Given the description of an element on the screen output the (x, y) to click on. 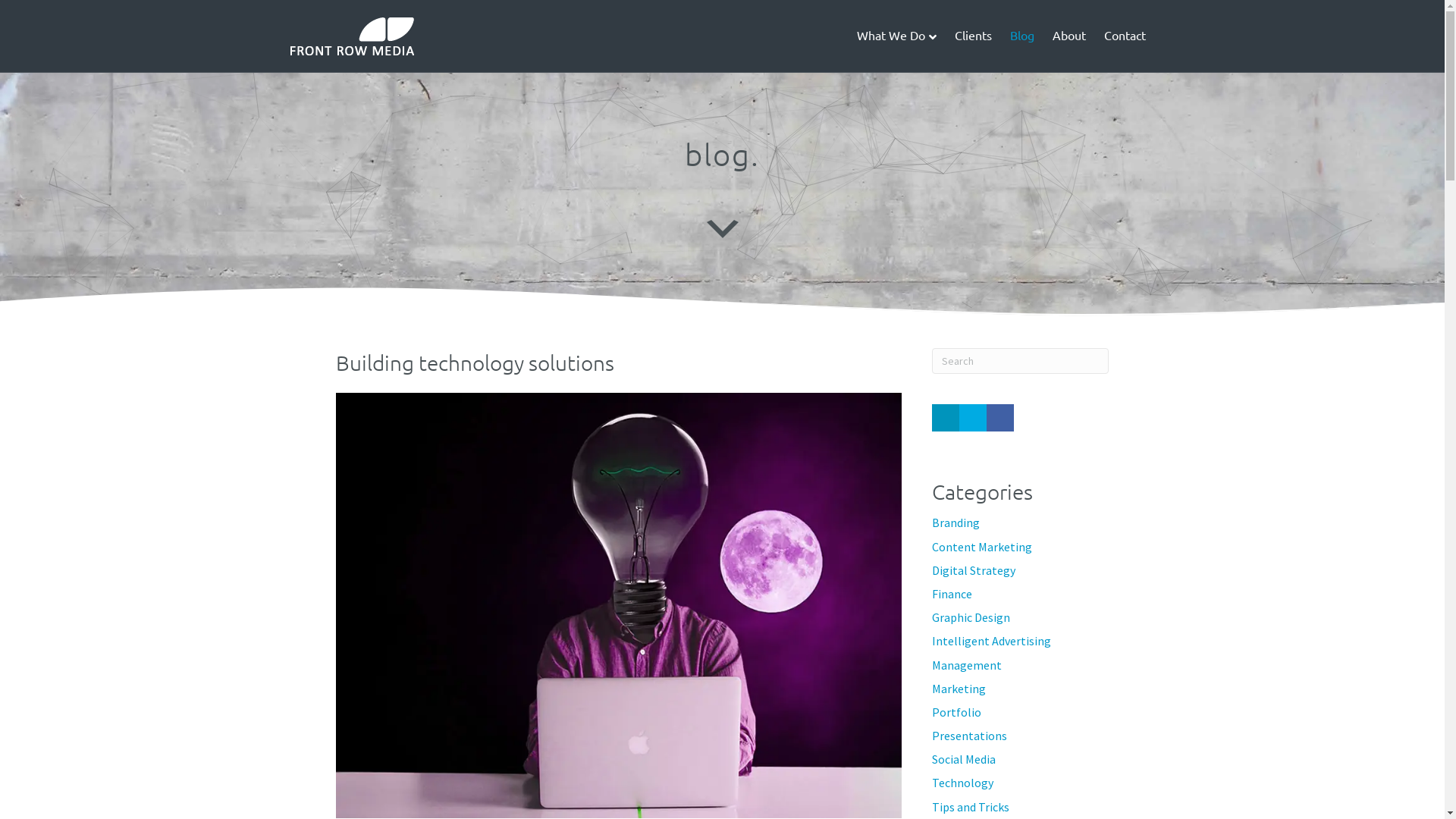
Graphic Design Element type: text (970, 616)
What We Do Element type: text (896, 35)
Marketing Element type: text (958, 688)
Social Media Element type: text (963, 758)
Building technology solutions Element type: hover (618, 603)
blog. Element type: text (721, 154)
Portfolio Element type: text (956, 711)
Content Marketing Element type: text (981, 546)
Intelligent Advertising Element type: text (991, 640)
Finance Element type: text (951, 593)
Management Element type: text (966, 664)
Contact Element type: text (1124, 34)
Building technology solutions Element type: text (474, 362)
Clients Element type: text (972, 34)
Presentations Element type: text (969, 735)
Blog Element type: text (1022, 34)
Digital Strategy Element type: text (973, 569)
About Element type: text (1069, 34)
Tips and Tricks Element type: text (970, 806)
Type and press Enter to search. Element type: hover (1019, 360)
Technology Element type: text (962, 782)
Branding Element type: text (955, 522)
